Given the description of an element on the screen output the (x, y) to click on. 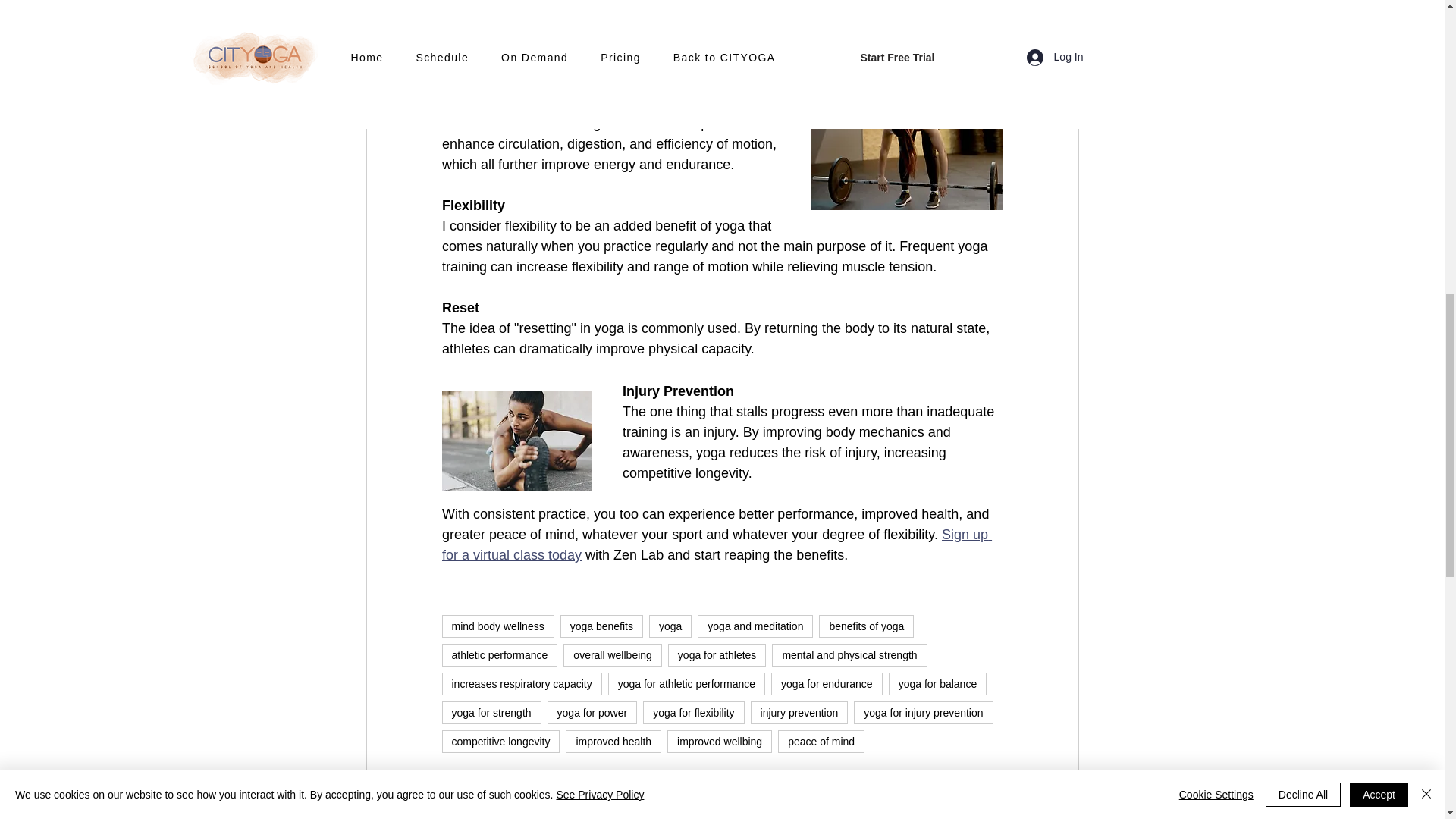
competitive longevity (500, 741)
peace of mind (820, 741)
yoga benefits (601, 626)
improved health (613, 741)
injury prevention (799, 712)
yoga for endurance (826, 683)
yoga for balance (937, 683)
yoga for flexibility (693, 712)
improved wellbing (718, 741)
yoga (670, 626)
athletic performance (499, 654)
yoga for athletes (717, 654)
overall wellbeing (612, 654)
yoga for athletic performance (686, 683)
yoga and meditation (754, 626)
